Given the description of an element on the screen output the (x, y) to click on. 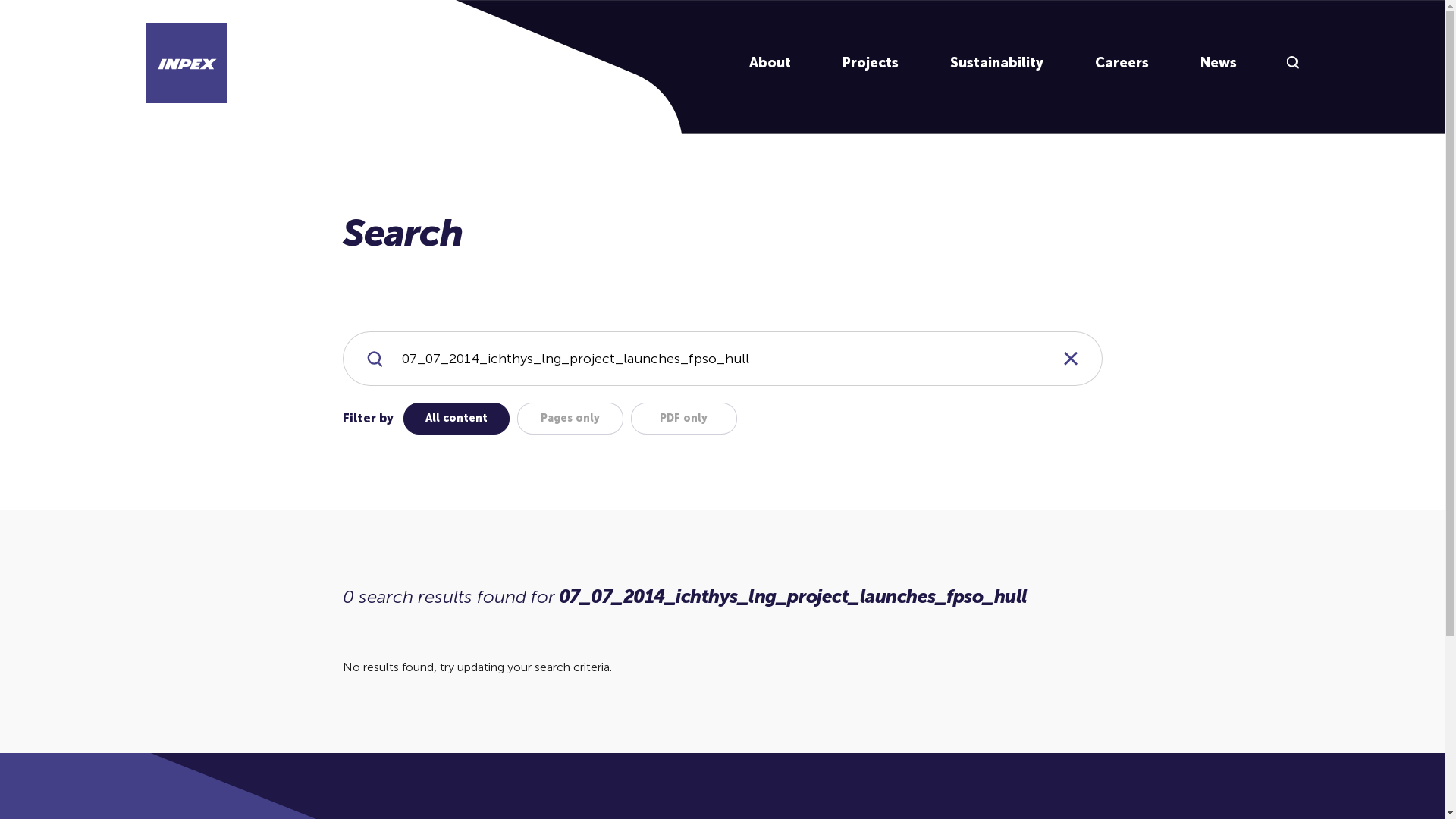
Sustainability Element type: text (995, 63)
Careers Element type: text (1121, 63)
News Element type: text (1217, 63)
About Element type: text (769, 63)
Projects Element type: text (869, 63)
